Given the description of an element on the screen output the (x, y) to click on. 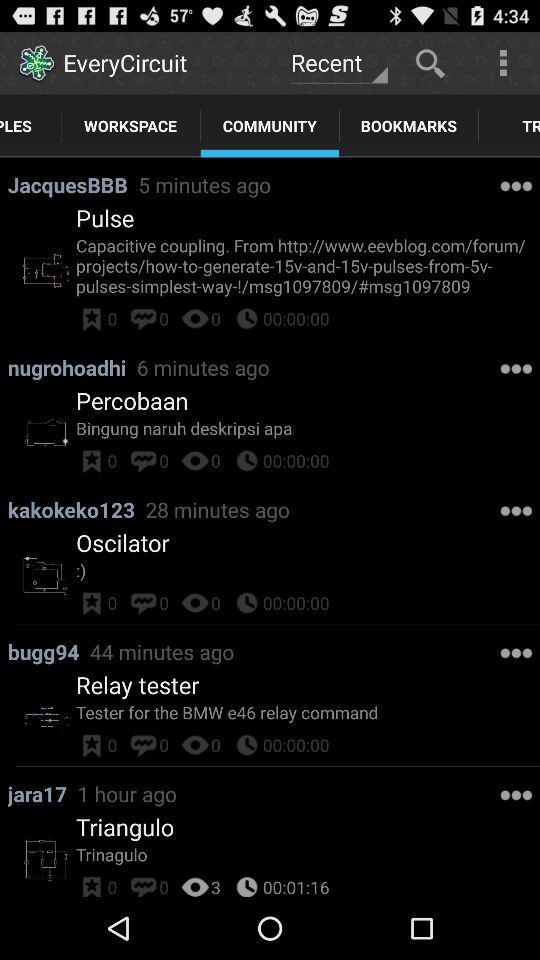
press the pulse icon (105, 218)
